Given the description of an element on the screen output the (x, y) to click on. 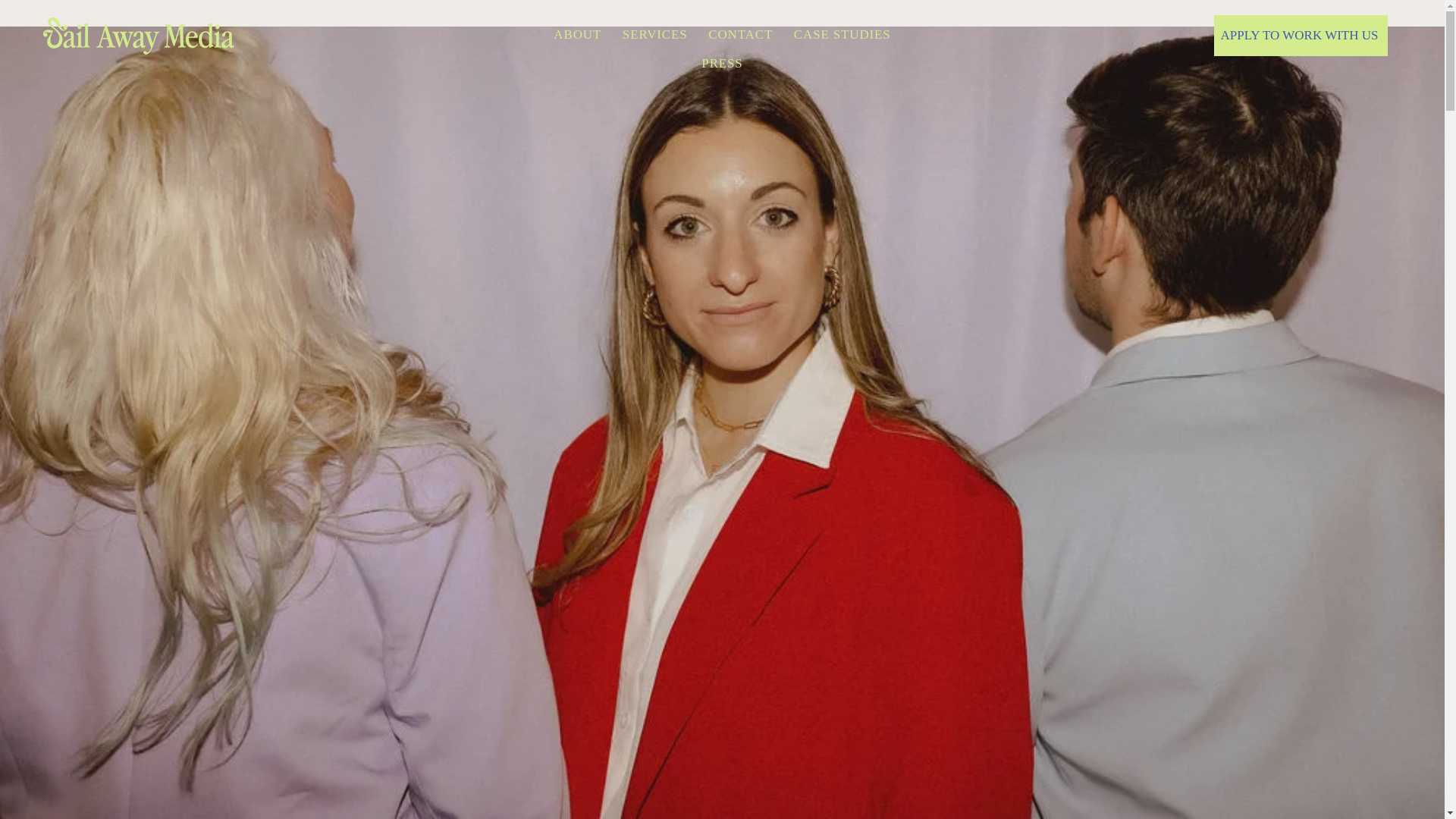
CONTACT (740, 34)
APPLY TO WORK WITH US (1300, 35)
ABOUT (577, 34)
CASE STUDIES (842, 34)
PRESS (722, 63)
SERVICES (654, 34)
